Given the description of an element on the screen output the (x, y) to click on. 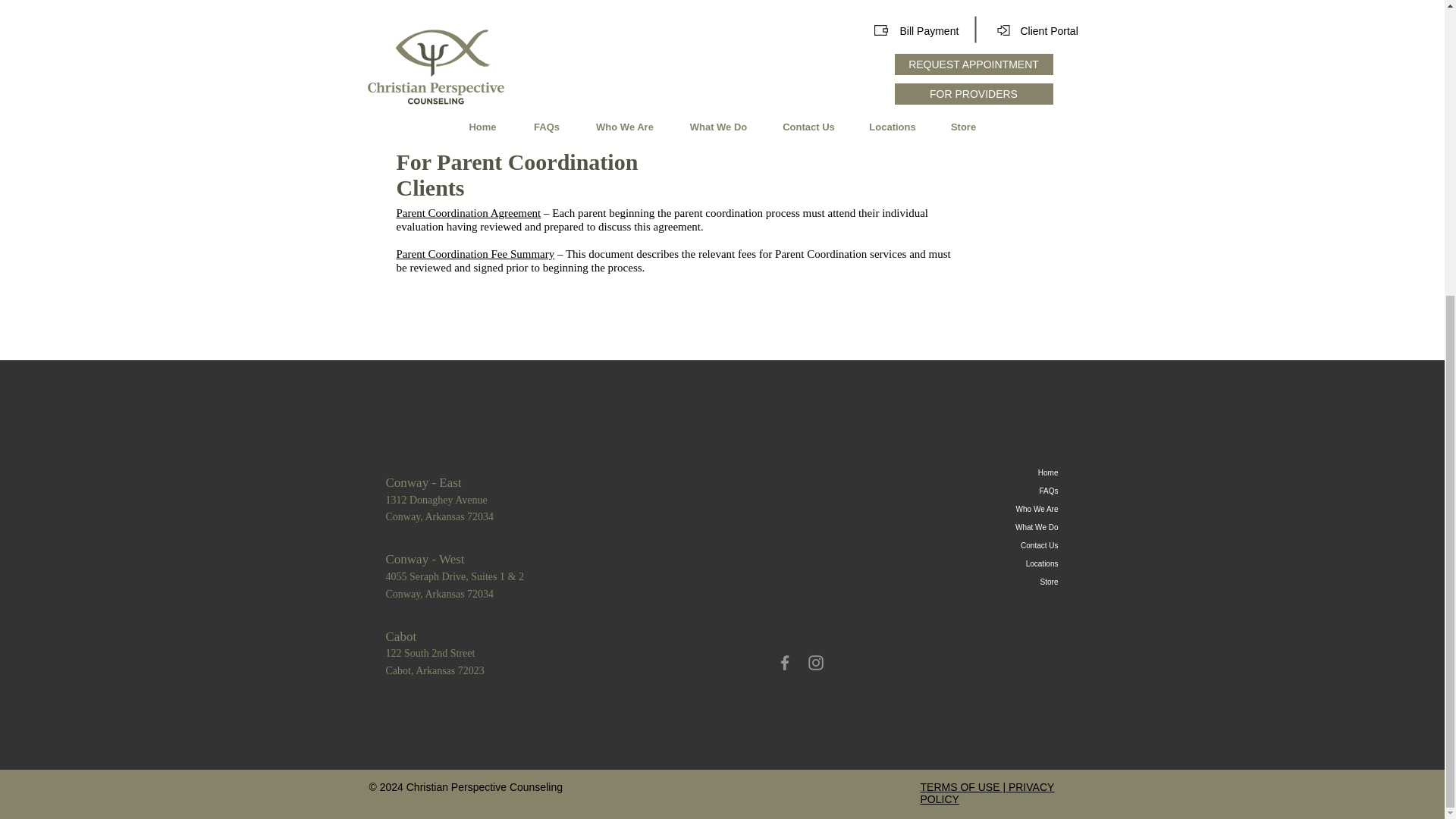
Home (1012, 473)
Parent Coordination Agreement (439, 499)
Parent Coordination Fee Summary (468, 213)
